Given the description of an element on the screen output the (x, y) to click on. 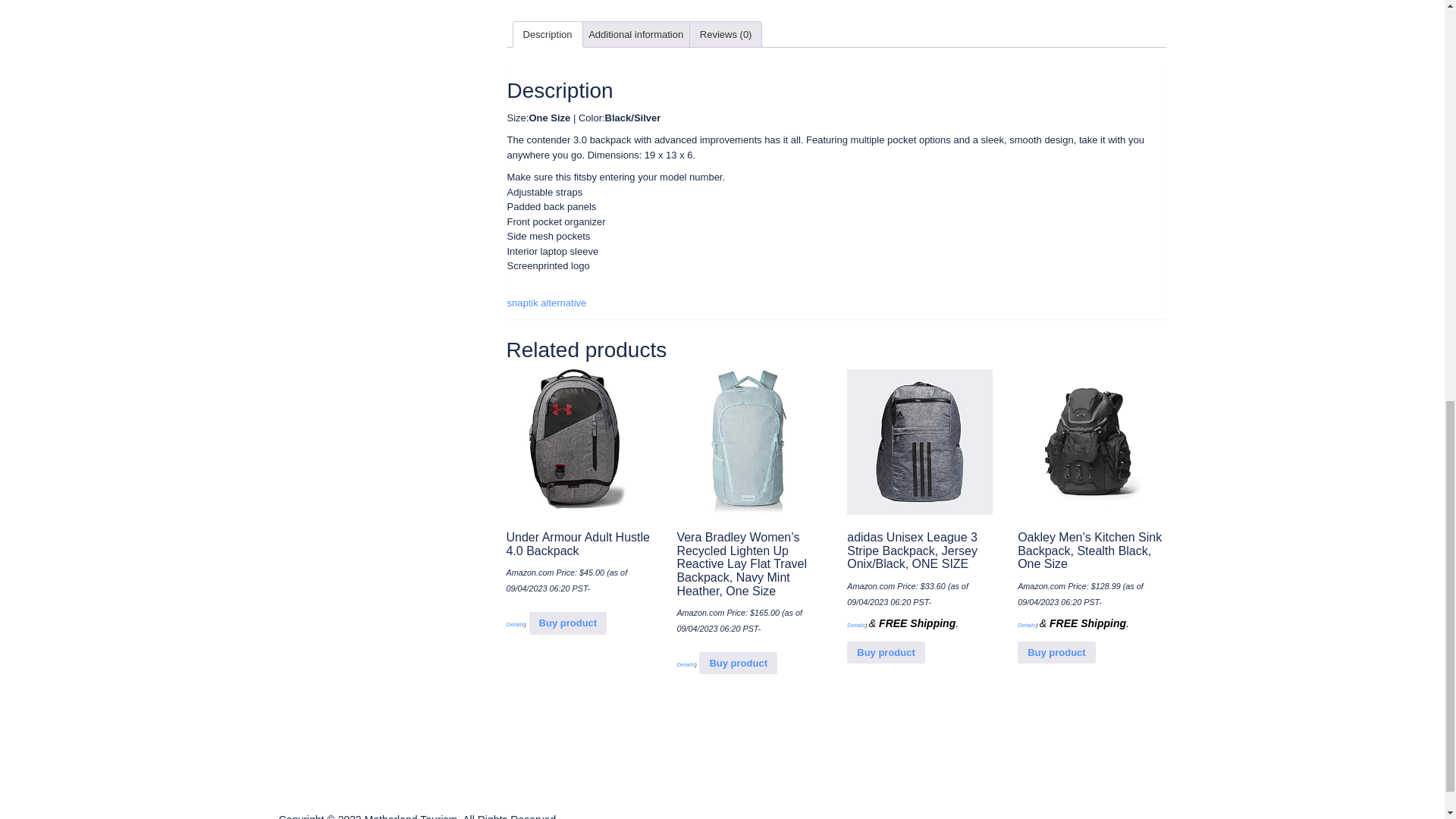
Description (547, 34)
snaptik alternative (546, 302)
Additional information (635, 34)
